Given the description of an element on the screen output the (x, y) to click on. 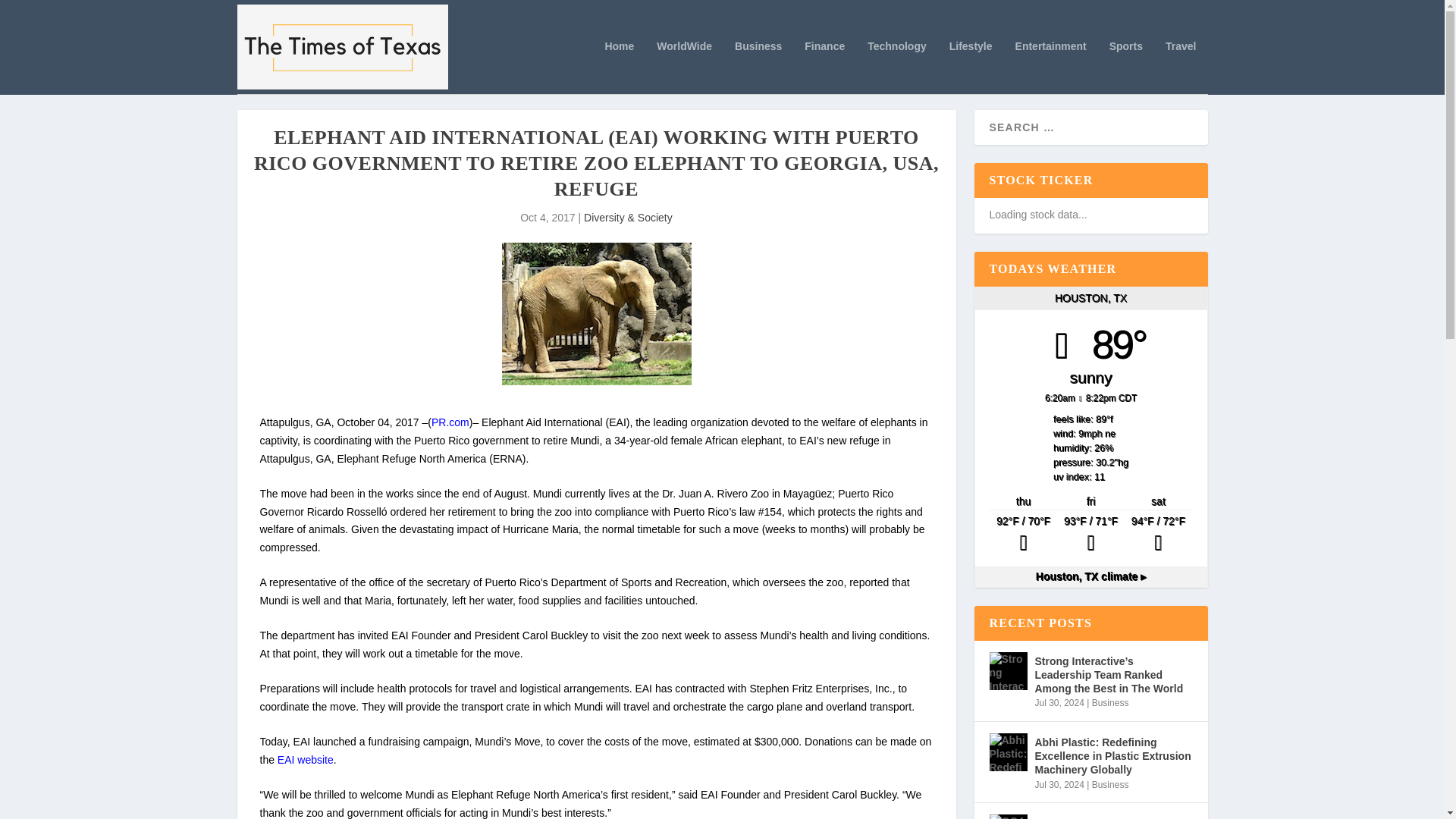
Sunny (1158, 534)
Sunny (1023, 534)
Technology (896, 67)
EAI website (305, 759)
Sunny (1090, 534)
PR.com (449, 422)
WorldWide (683, 67)
Entertainment (1050, 67)
Houston, TX - Climate (1090, 576)
